Given the description of an element on the screen output the (x, y) to click on. 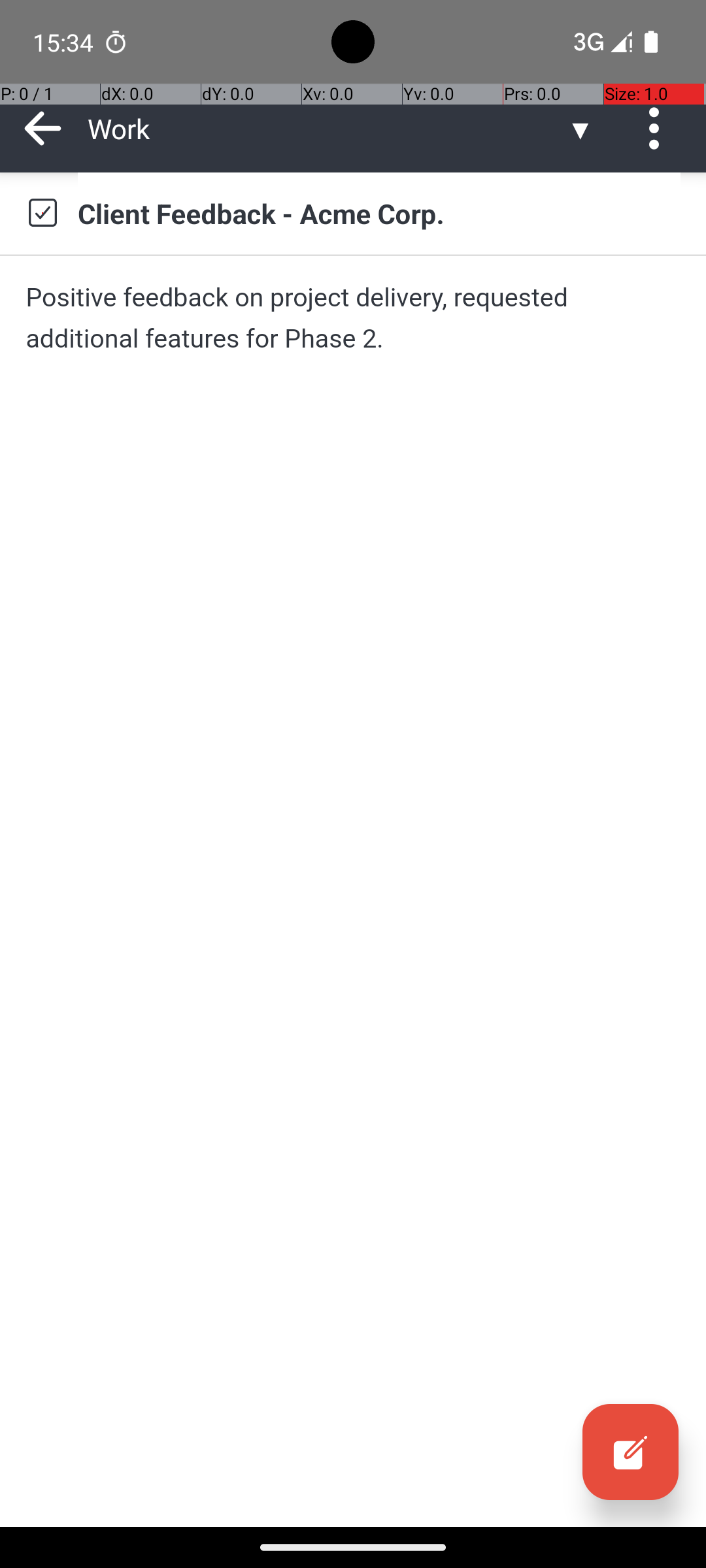
Client Feedback - Acme Corp. Element type: android.widget.EditText (378, 213)
Positive feedback on project delivery, requested additional features for Phase 2. Element type: android.widget.TextView (352, 317)
